Given the description of an element on the screen output the (x, y) to click on. 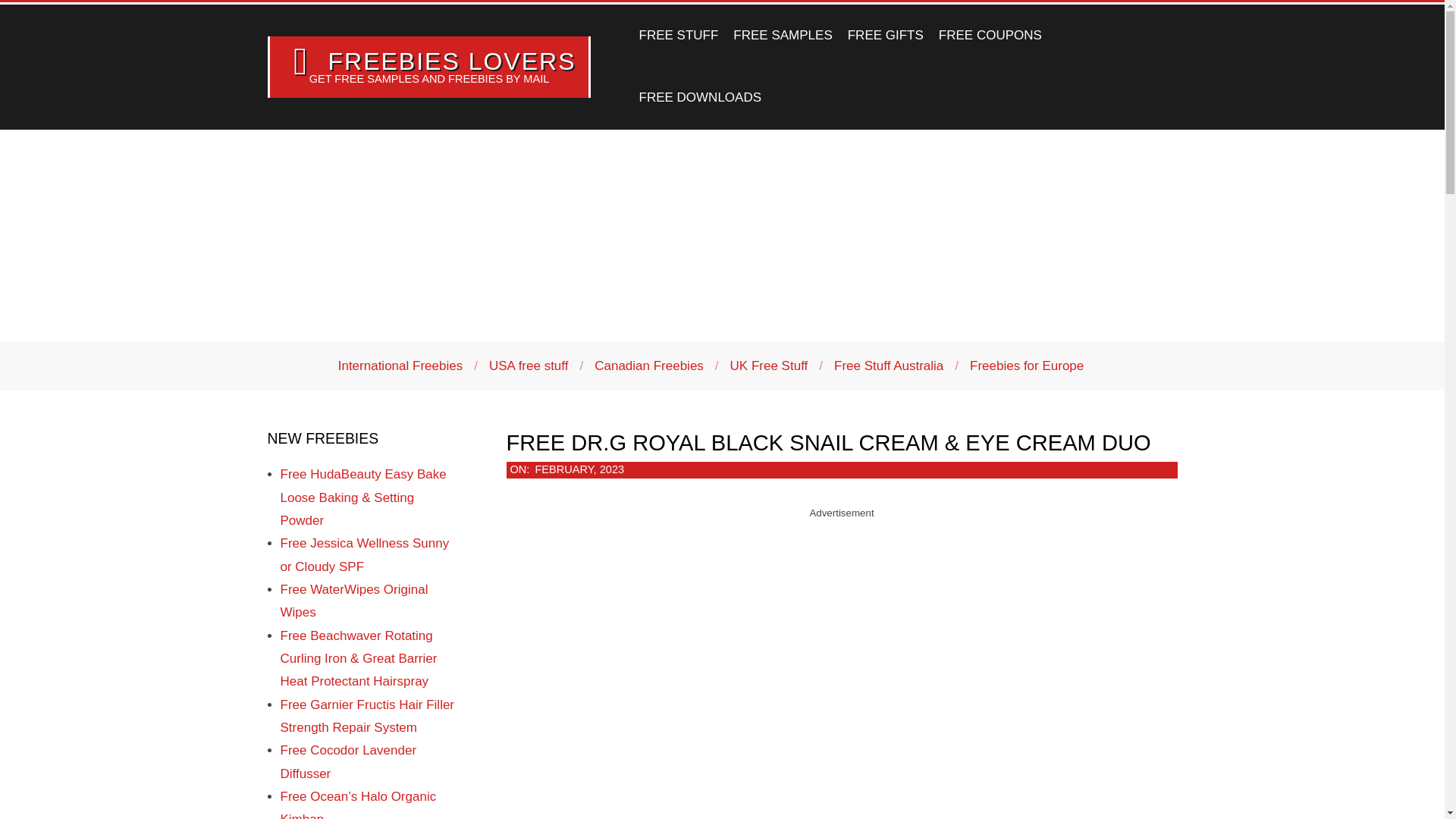
FREE GIFTS (885, 35)
FREE COUPONS (990, 35)
Freebies for Europe (1026, 365)
Free Jessica Wellness Sunny or Cloudy SPF (365, 554)
FREEBIES LOVERS (451, 61)
Free Cocodor Lavender Diffusser (348, 761)
Free WaterWipes Original Wipes (354, 600)
Free Garnier Fructis Hair Filler Strength Repair System (367, 715)
Free Stuff Australia (888, 365)
Canadian Freebies (648, 365)
